Given the description of an element on the screen output the (x, y) to click on. 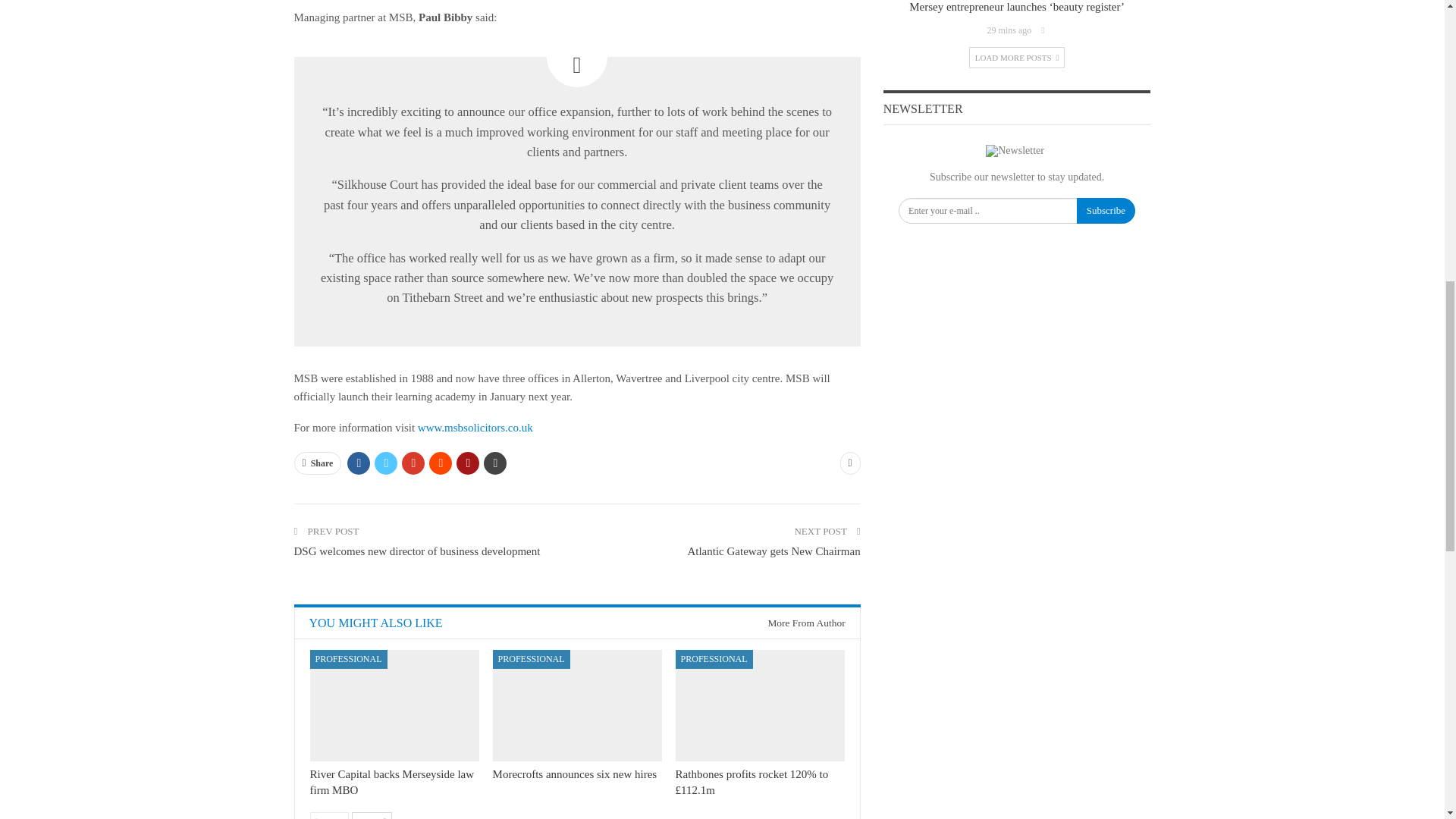
River Capital backs Merseyside law firm MBO (393, 705)
Morecrofts announces six new hires (577, 705)
Next (371, 815)
Previous (328, 815)
